Given the description of an element on the screen output the (x, y) to click on. 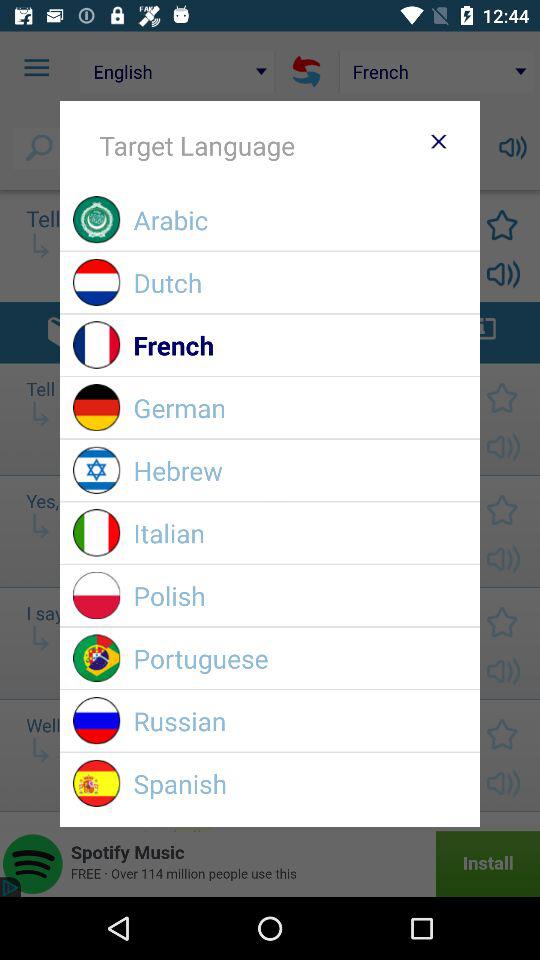
flip to the italian icon (300, 532)
